Given the description of an element on the screen output the (x, y) to click on. 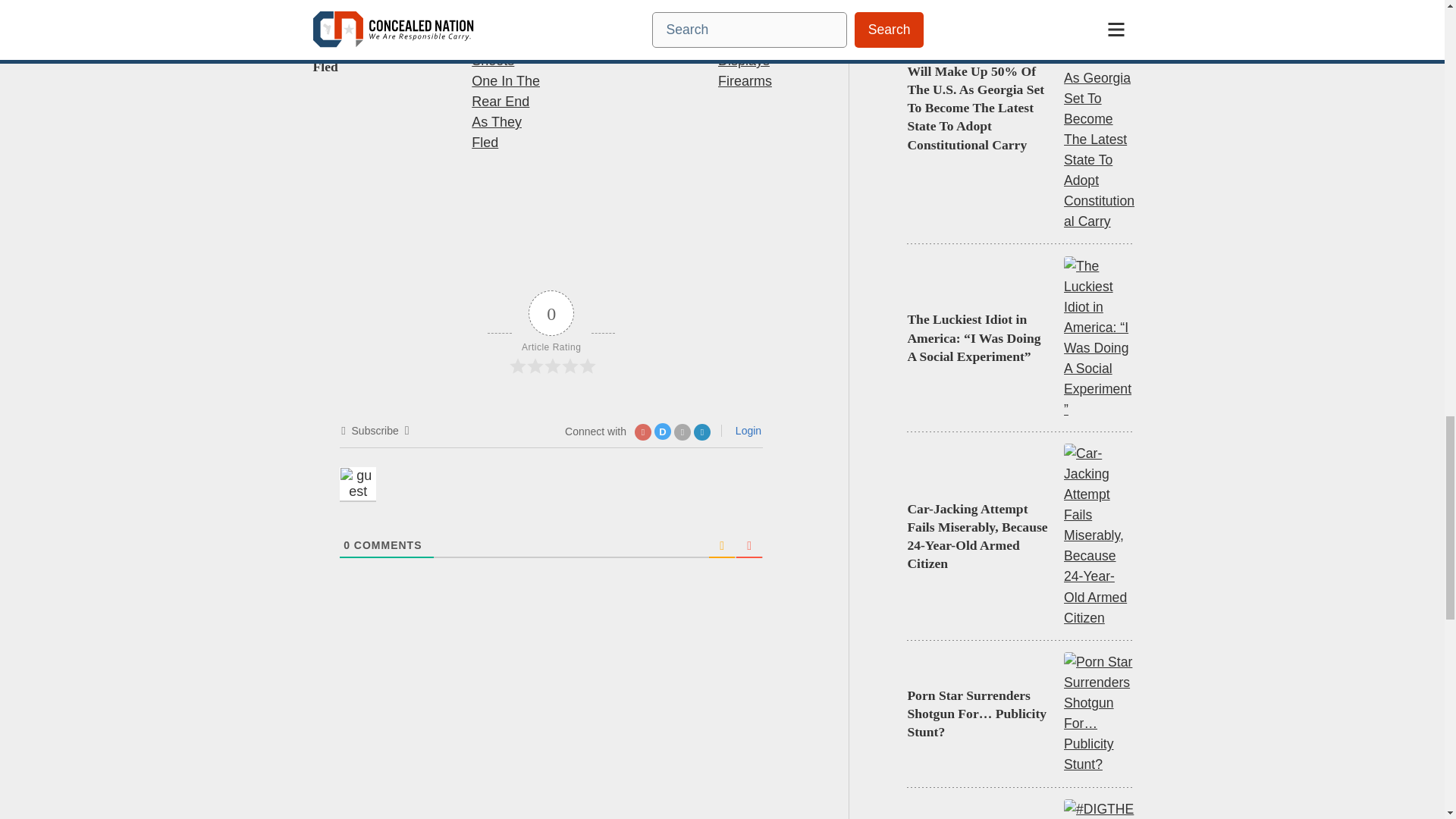
Login (745, 430)
